Given the description of an element on the screen output the (x, y) to click on. 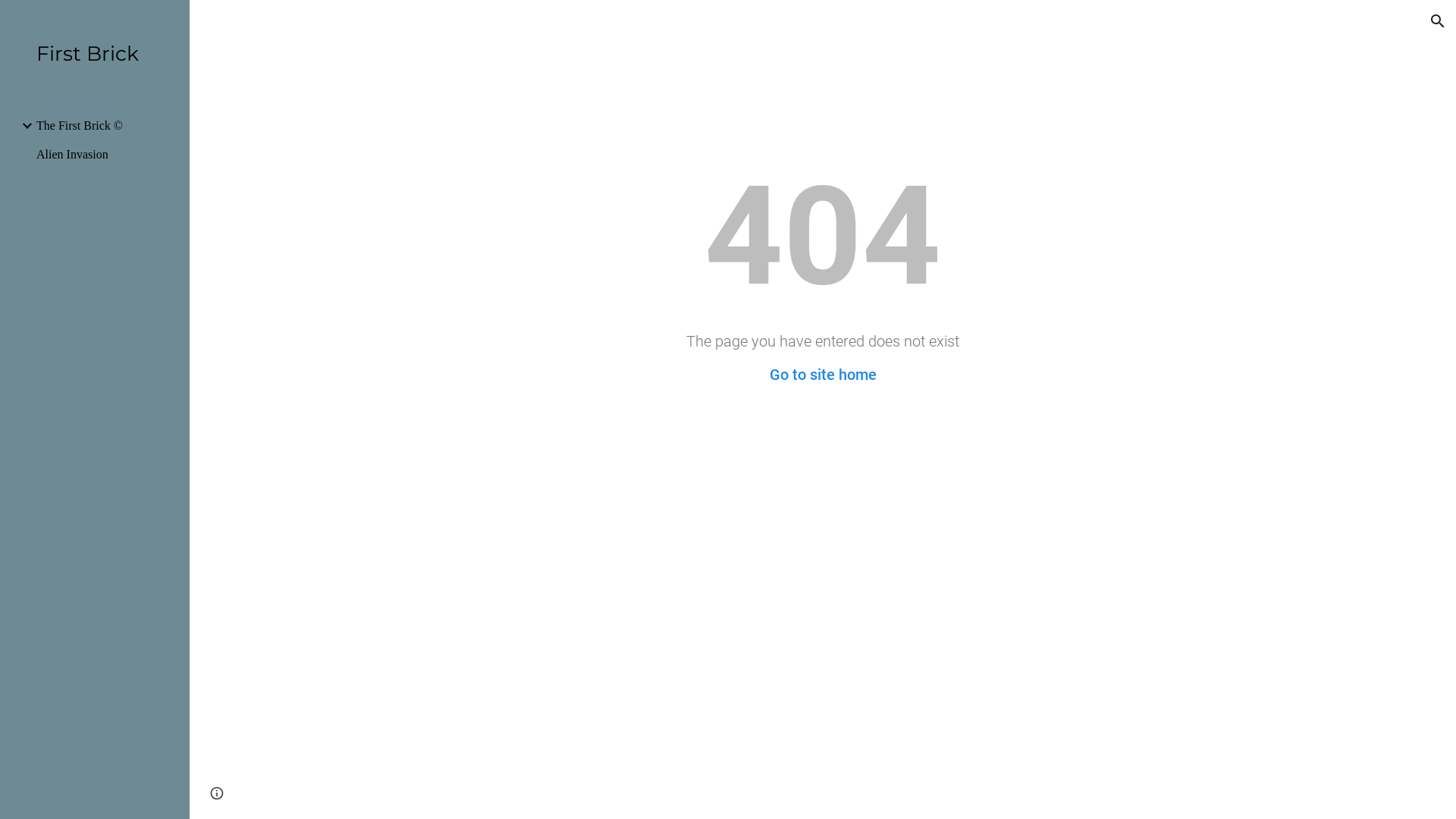
Alien Invasion Element type: text (106, 154)
First Brick Element type: text (100, 54)
Go to site home Element type: text (821, 374)
Expand/Collapse Element type: hover (22, 125)
